Given the description of an element on the screen output the (x, y) to click on. 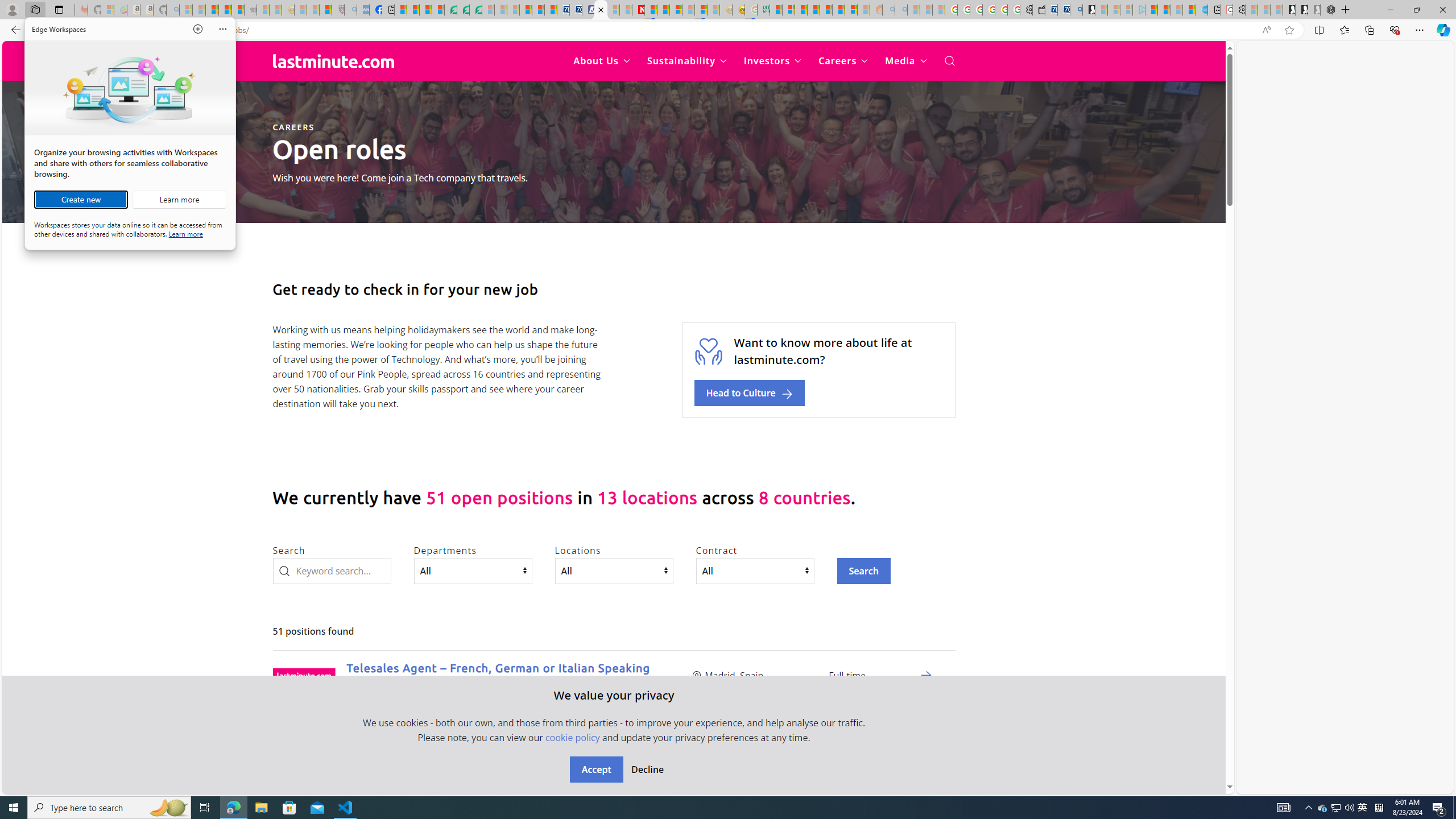
Microsoft Word - consumer-privacy address update 2.2021 (475, 9)
Decline (646, 769)
CAREERS (293, 126)
Create new workspace (1322, 807)
